Given the description of an element on the screen output the (x, y) to click on. 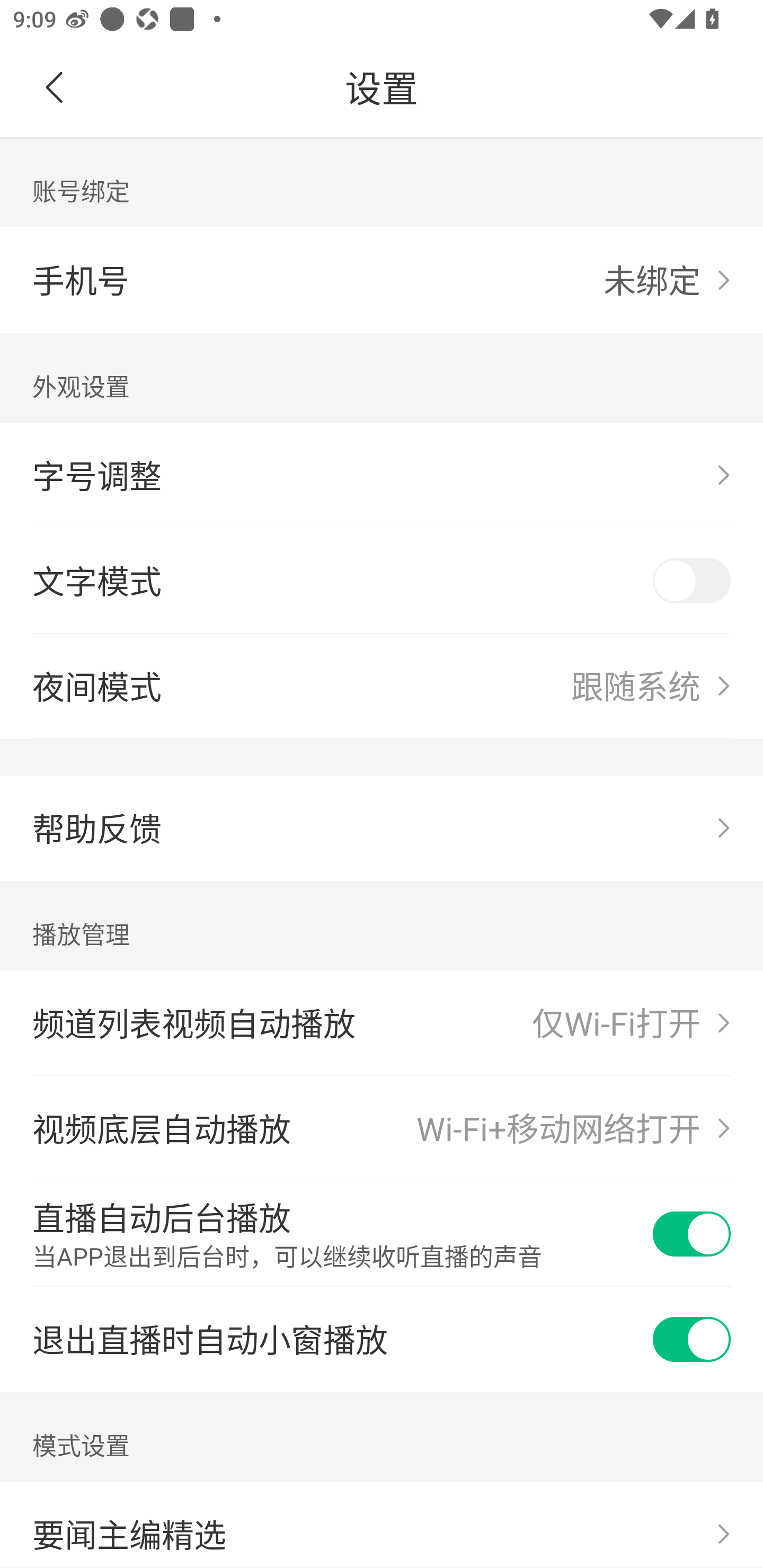
 返回 (54, 87)
手机号 未绑定 (381, 279)
字号调整 (381, 475)
文字模式 (381, 580)
夜间模式 跟随系统 (381, 685)
帮助反馈 (381, 828)
频道列表视频自动播放 仅Wi-Fi打开 (381, 1022)
视频底层自动播放 Wi-Fi+移动网络打开 (381, 1127)
直播自动后台播放 当APP退出到后台时，可以继续收听直播的声音 (381, 1233)
退出直播时自动小窗播放 (381, 1339)
要闻主编精选 (381, 1524)
